Given the description of an element on the screen output the (x, y) to click on. 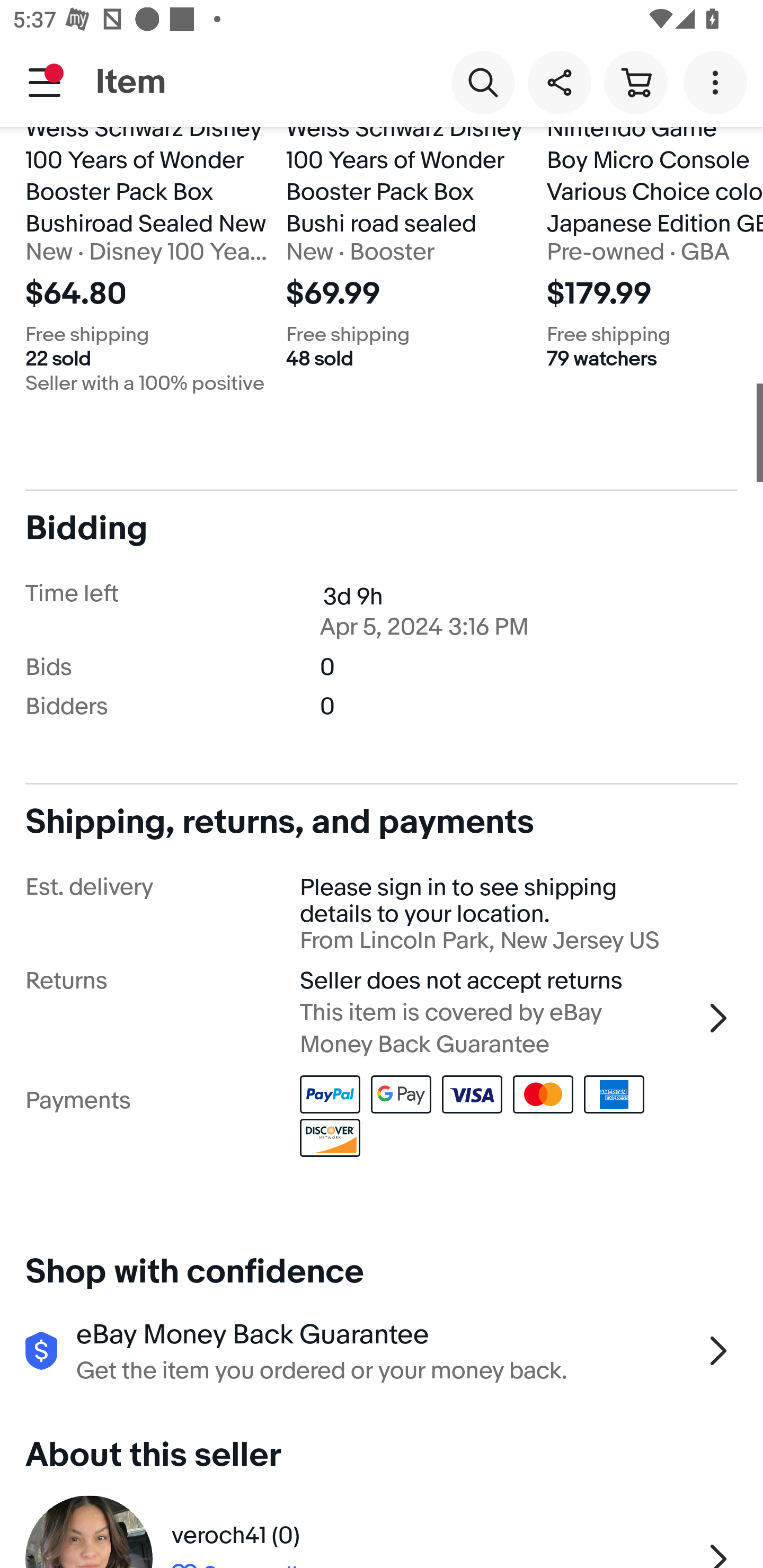
Main navigation, notification is pending, open (44, 82)
Search (482, 81)
Share this item (559, 81)
Cart button shopping cart (635, 81)
More options (718, 81)
